Given the description of an element on the screen output the (x, y) to click on. 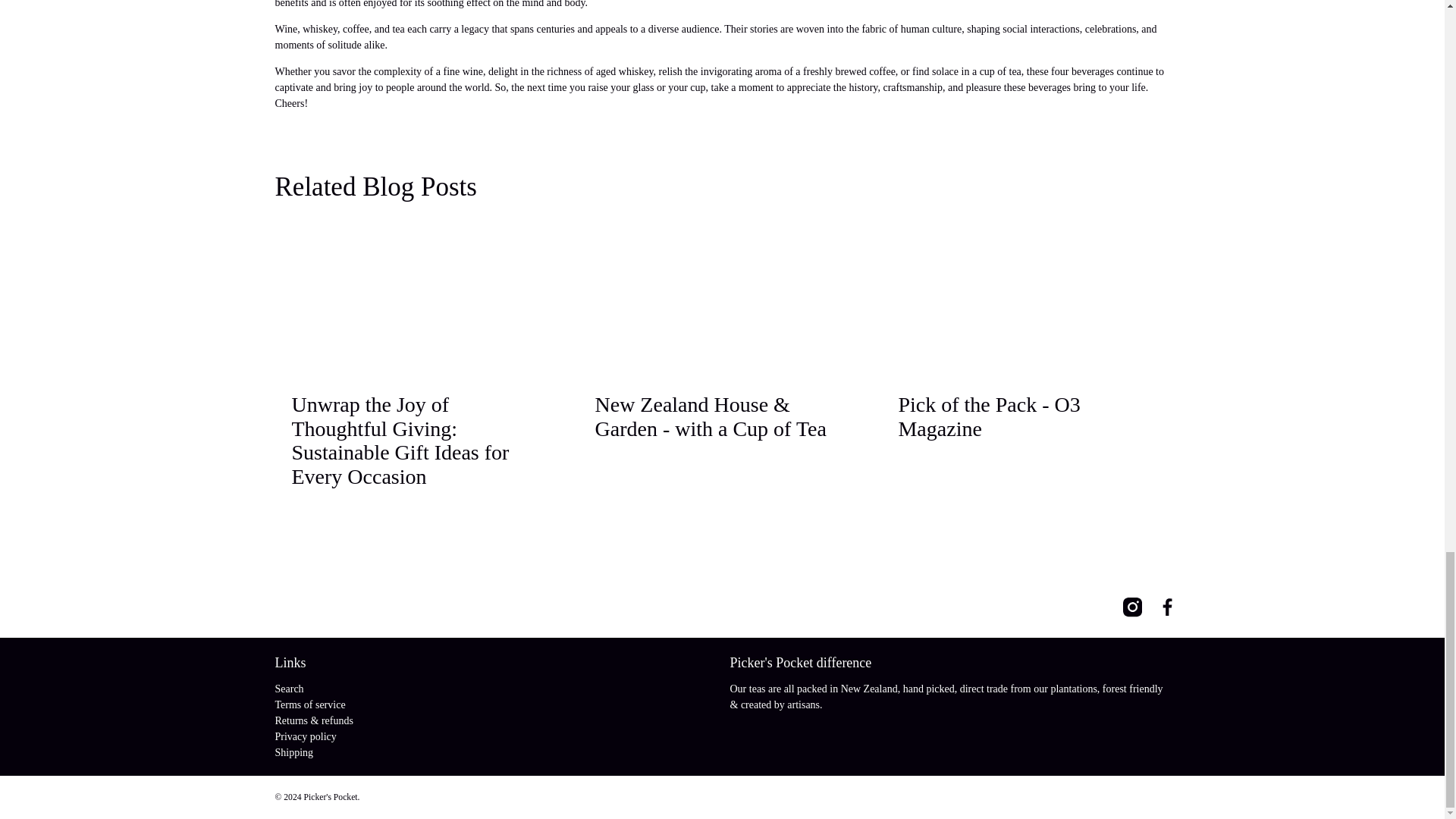
Pick of the Pack - O3 Magazine (1025, 296)
Pick of the Pack - O3 Magazine (989, 416)
